Given the description of an element on the screen output the (x, y) to click on. 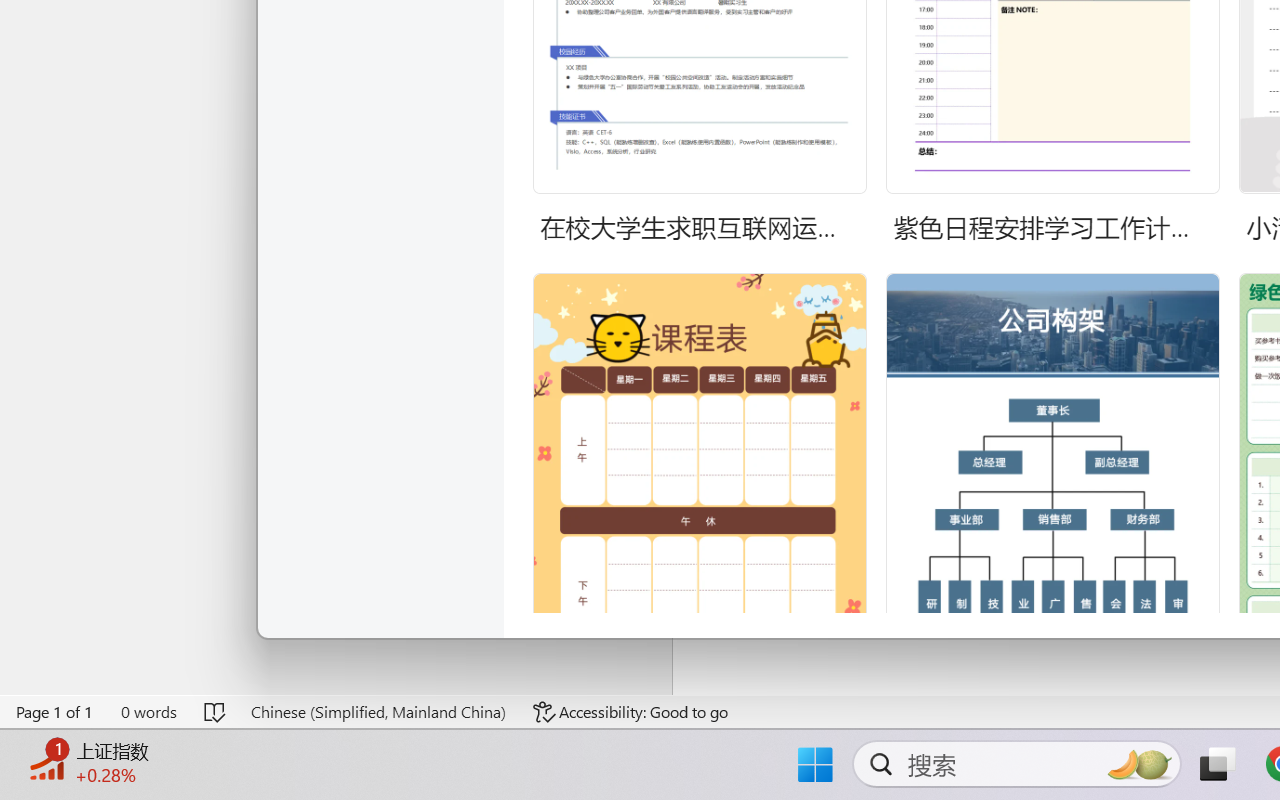
Language Chinese (Simplified, Mainland China) (378, 712)
